Given the description of an element on the screen output the (x, y) to click on. 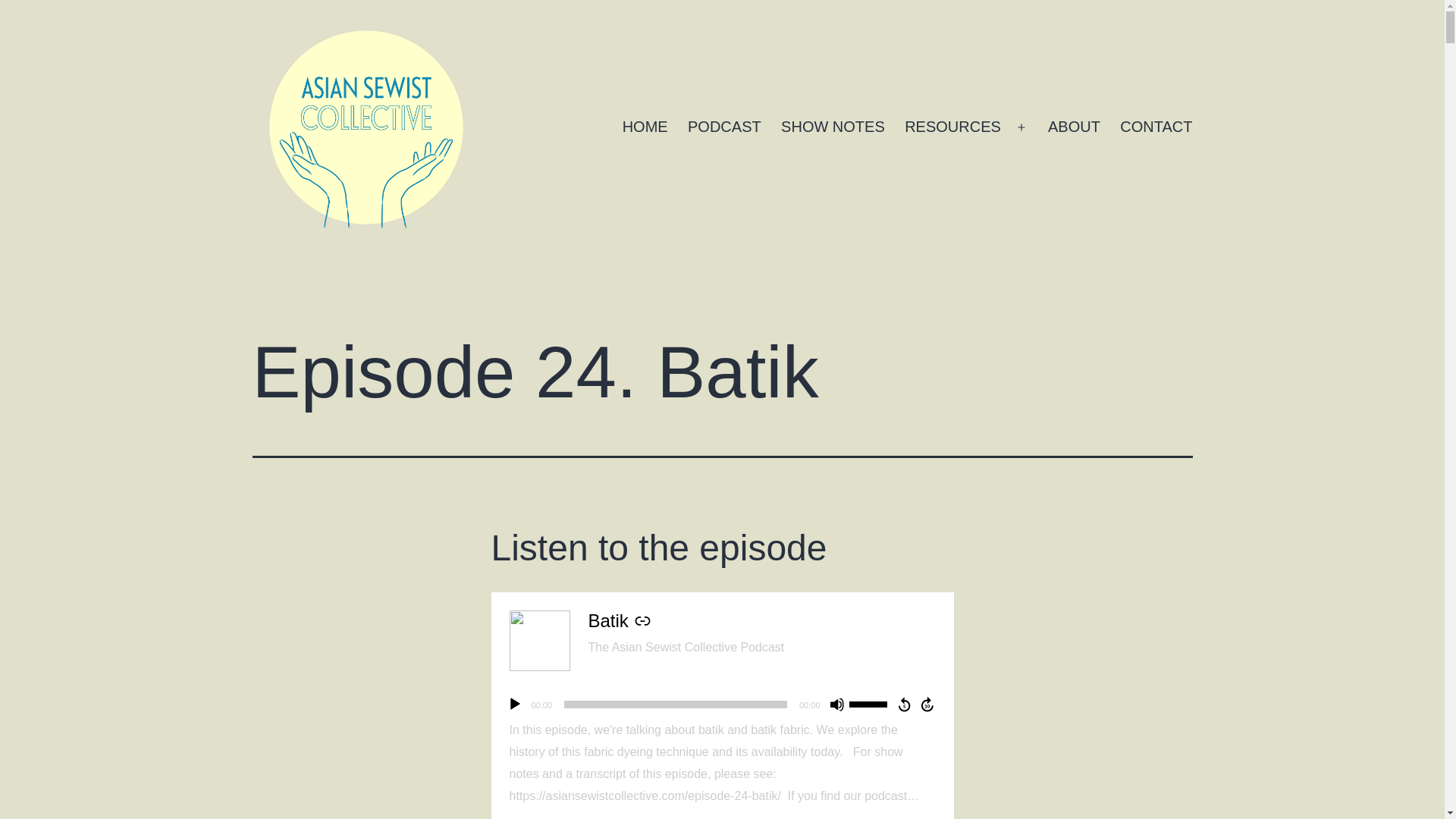
PODCAST (724, 127)
SHOW NOTES (833, 127)
ABOUT (1073, 127)
Jump Back (903, 703)
The Asian Sewist Collective Podcast (686, 646)
CONTACT (1155, 127)
Play (513, 703)
HOME (644, 127)
Jump Back (903, 703)
Skip Forward (928, 703)
